Given the description of an element on the screen output the (x, y) to click on. 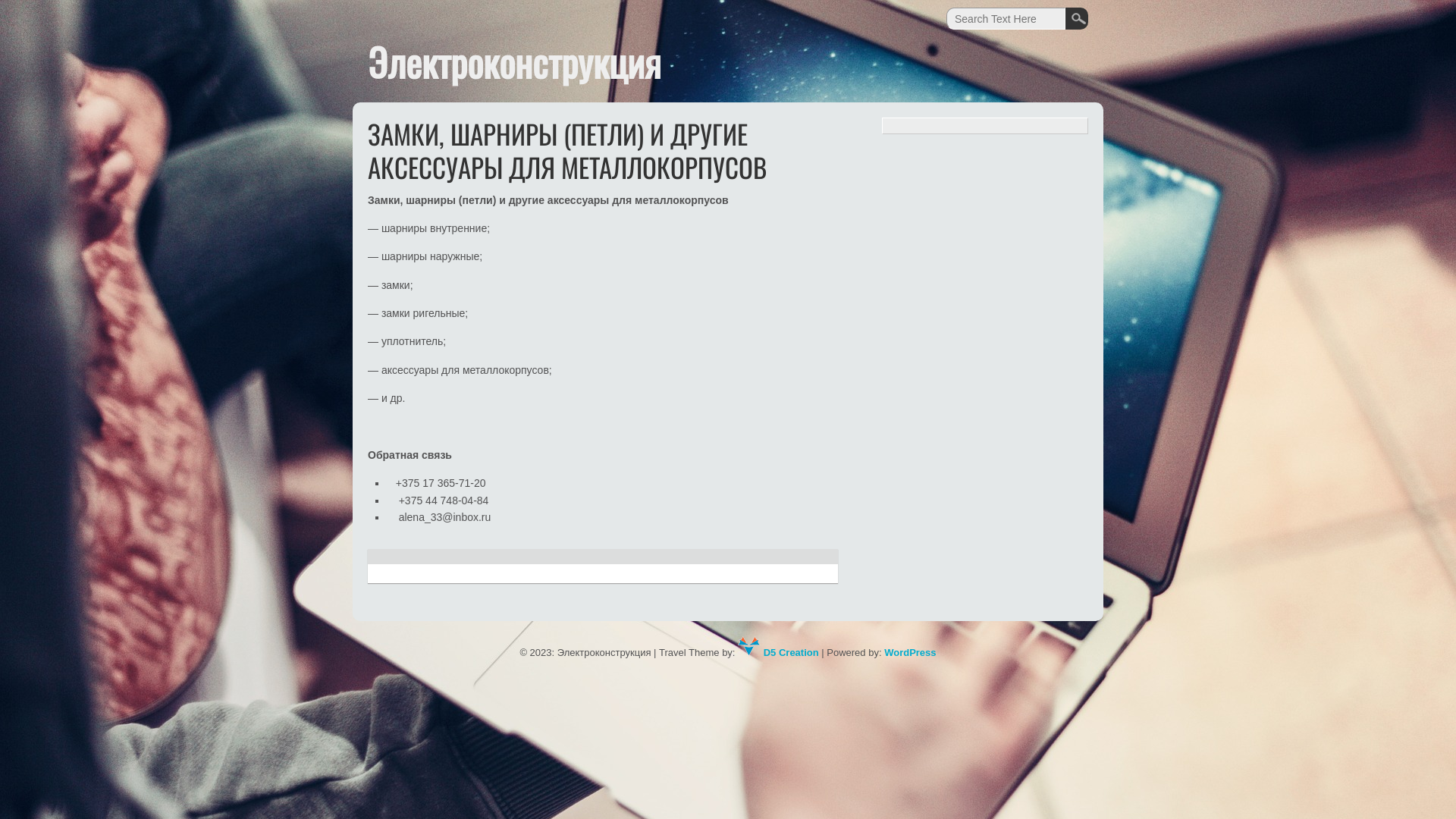
WordPress Element type: text (909, 652)
D5 Creation Element type: text (778, 652)
Search Element type: text (1076, 18)
